Given the description of an element on the screen output the (x, y) to click on. 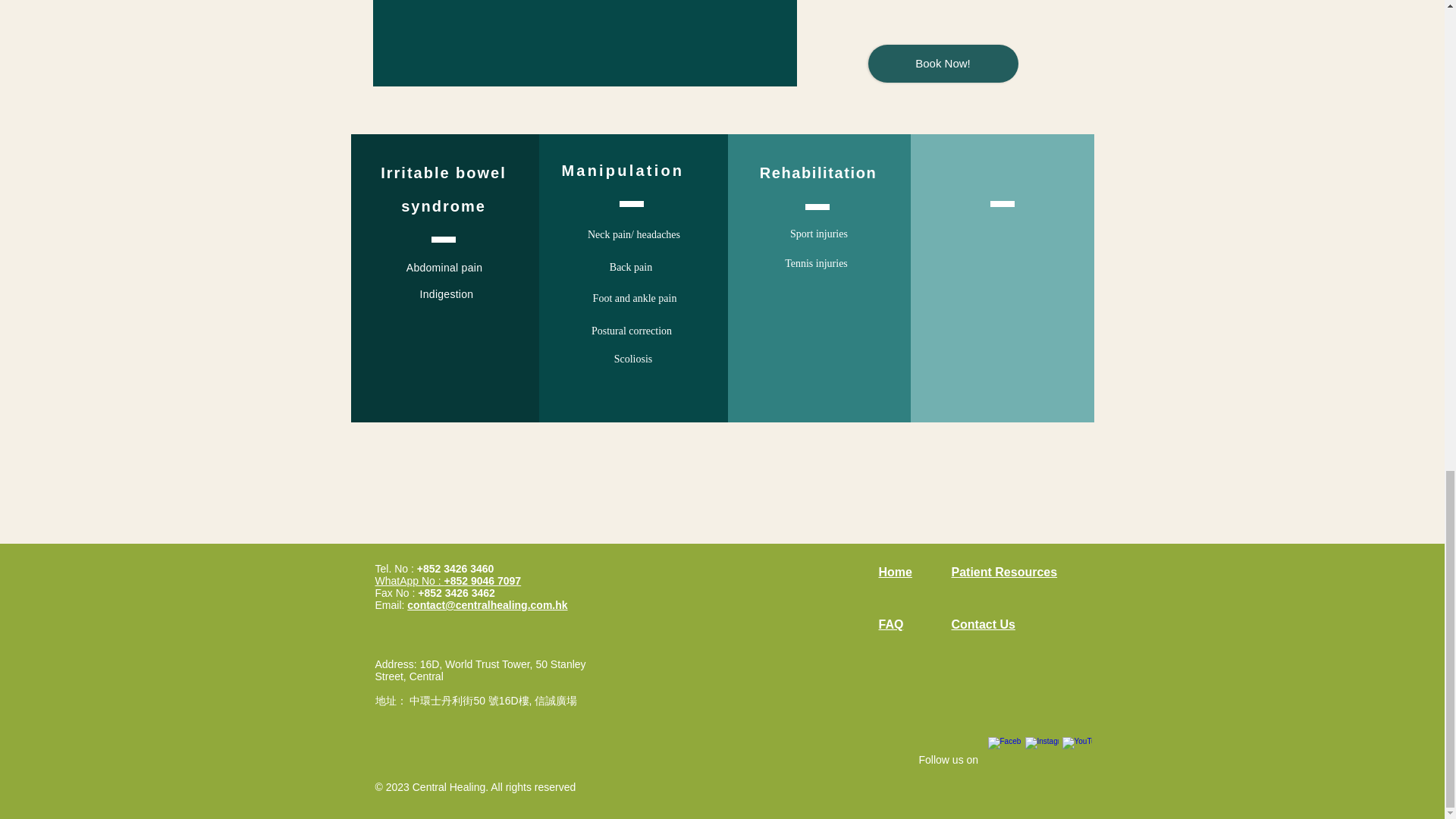
Home (894, 571)
Book Now! (942, 63)
Patient Resources (1003, 571)
Contact Us (982, 624)
FAQ (889, 624)
